Given the description of an element on the screen output the (x, y) to click on. 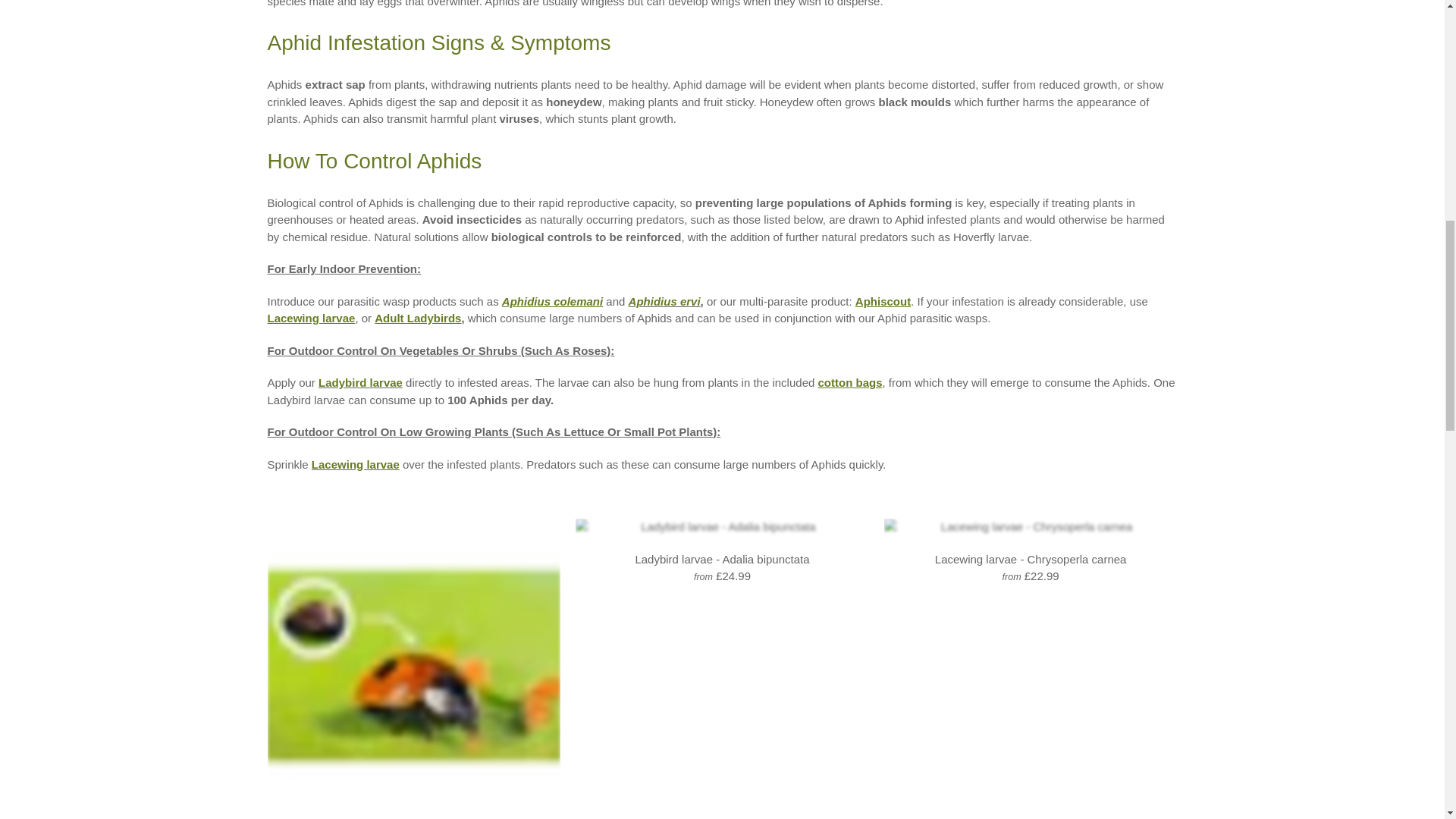
colemani (552, 300)
aphiscout (883, 300)
lacewing (310, 318)
ladybird larvae (360, 382)
ervi (664, 300)
lacewing (354, 463)
